Given the description of an element on the screen output the (x, y) to click on. 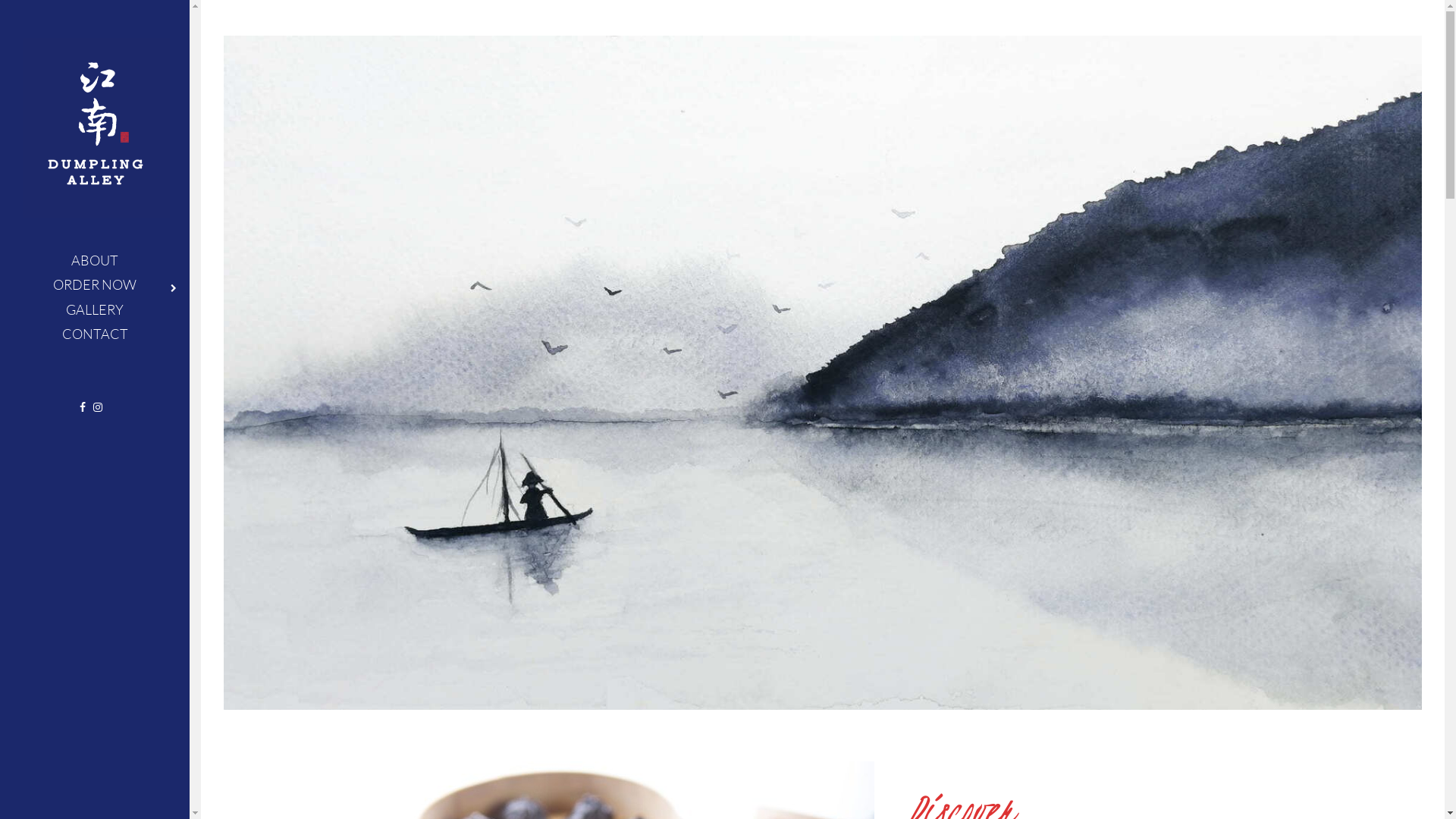
ABOUT Element type: text (94, 259)
CONTACT Element type: text (94, 333)
ORDER NOW Element type: text (94, 284)
GALLERY Element type: text (94, 309)
xiaolongbao (1) (2) Element type: hover (822, 372)
